Given the description of an element on the screen output the (x, y) to click on. 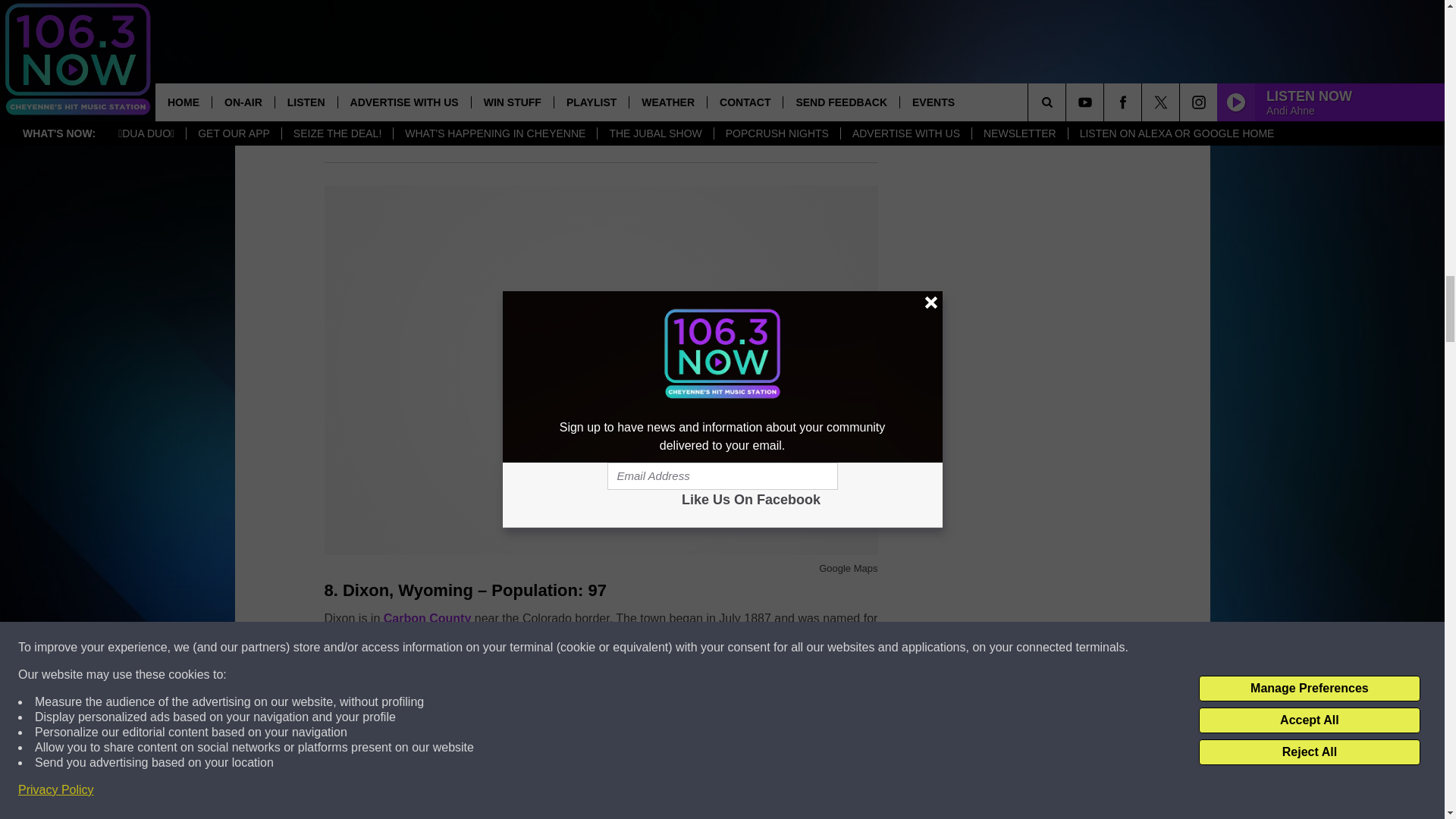
Charles M. Bair (711, 65)
Sweetwater County, Wyoming (505, 89)
Carbon County, Wyoming (427, 617)
